Given the description of an element on the screen output the (x, y) to click on. 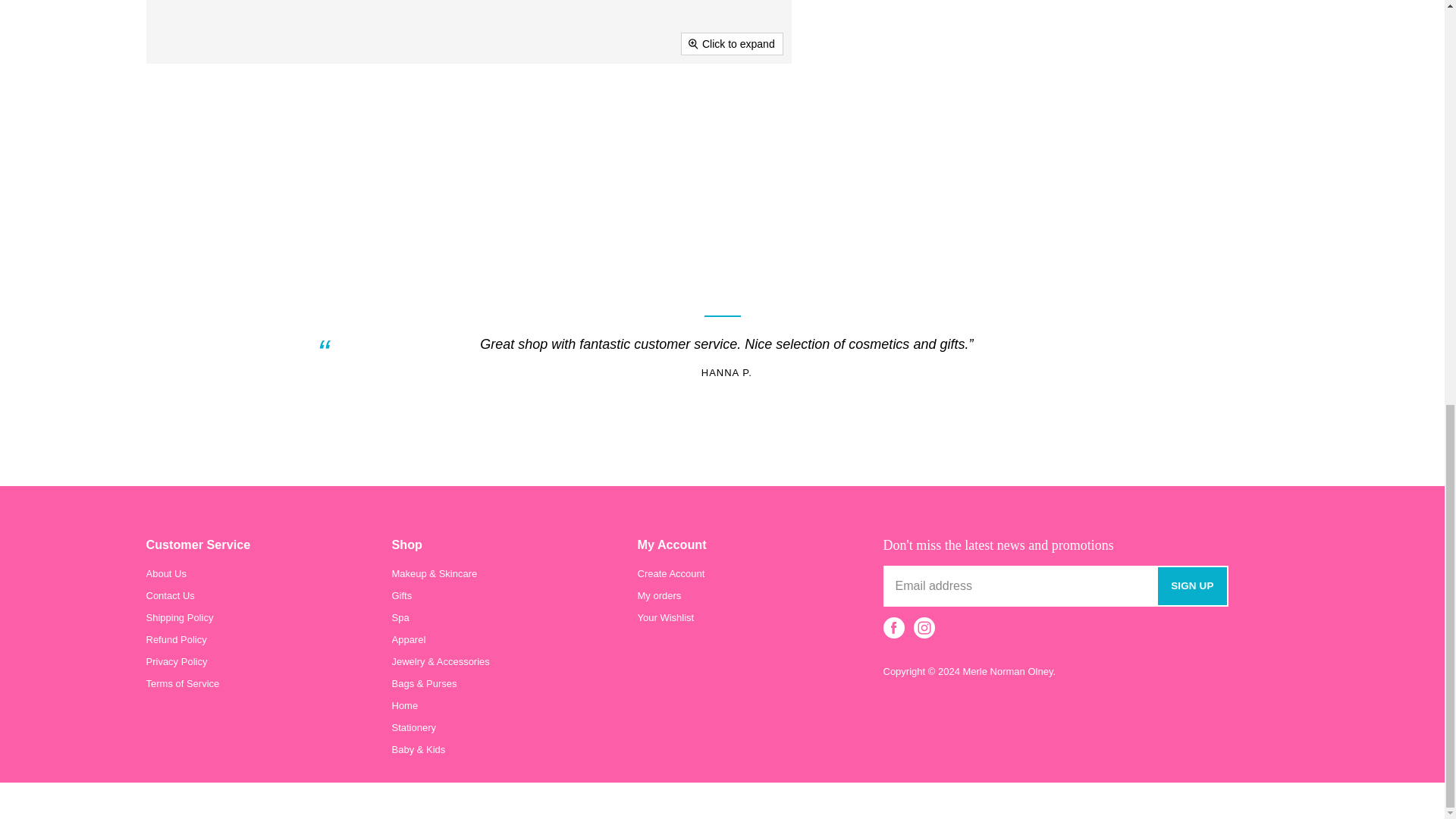
Instagram (923, 627)
Facebook (893, 627)
